Given the description of an element on the screen output the (x, y) to click on. 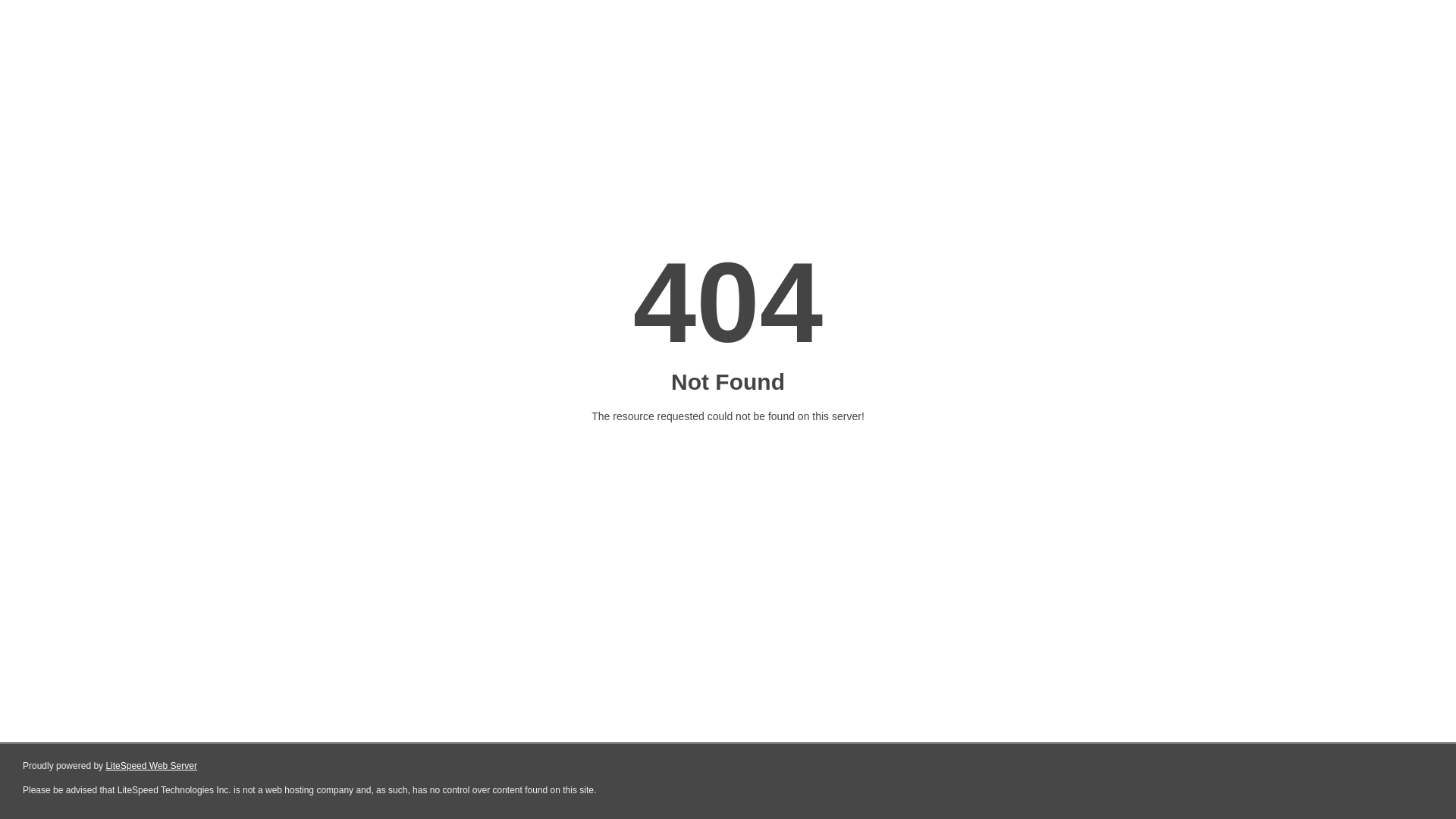
LiteSpeed Web Server Element type: text (151, 765)
